Given the description of an element on the screen output the (x, y) to click on. 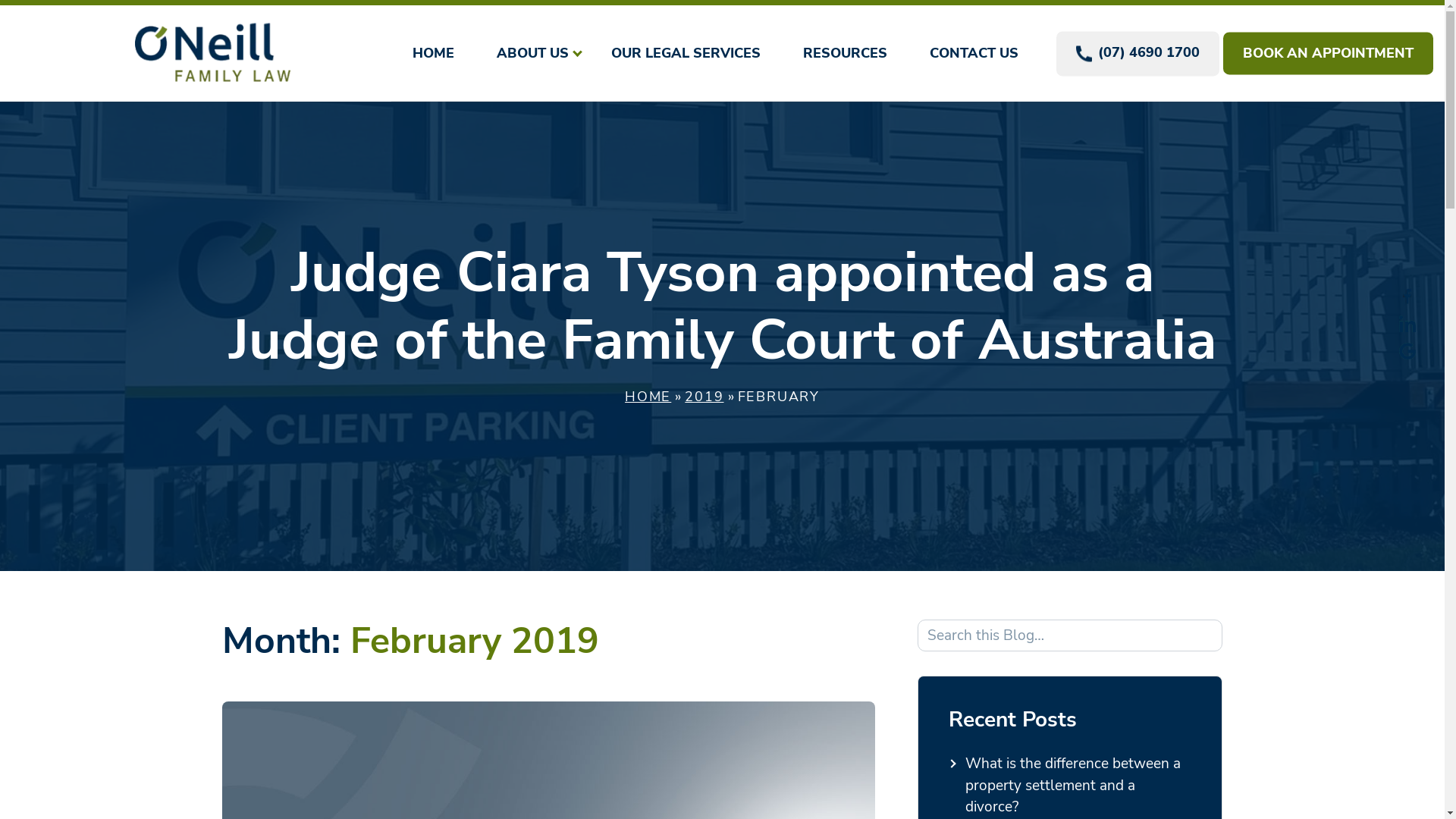
O'Neill Family Law Element type: text (212, 53)
HOME Element type: text (433, 50)
View our Google Business Listing Element type: text (1407, 350)
HOME Element type: text (647, 396)
Search Element type: text (1206, 635)
(07) 4690 1700 Element type: text (1137, 53)
Like us on Facebook Element type: text (1407, 296)
RESOURCES Element type: text (844, 50)
OUR LEGAL SERVICES Element type: text (685, 50)
ABOUT US Element type: text (532, 50)
BOOK AN APPOINTMENT Element type: text (1328, 53)
2019 Element type: text (703, 396)
Follow on LinkedIn Element type: text (1407, 323)
CONTACT US Element type: text (973, 50)
